Given the description of an element on the screen output the (x, y) to click on. 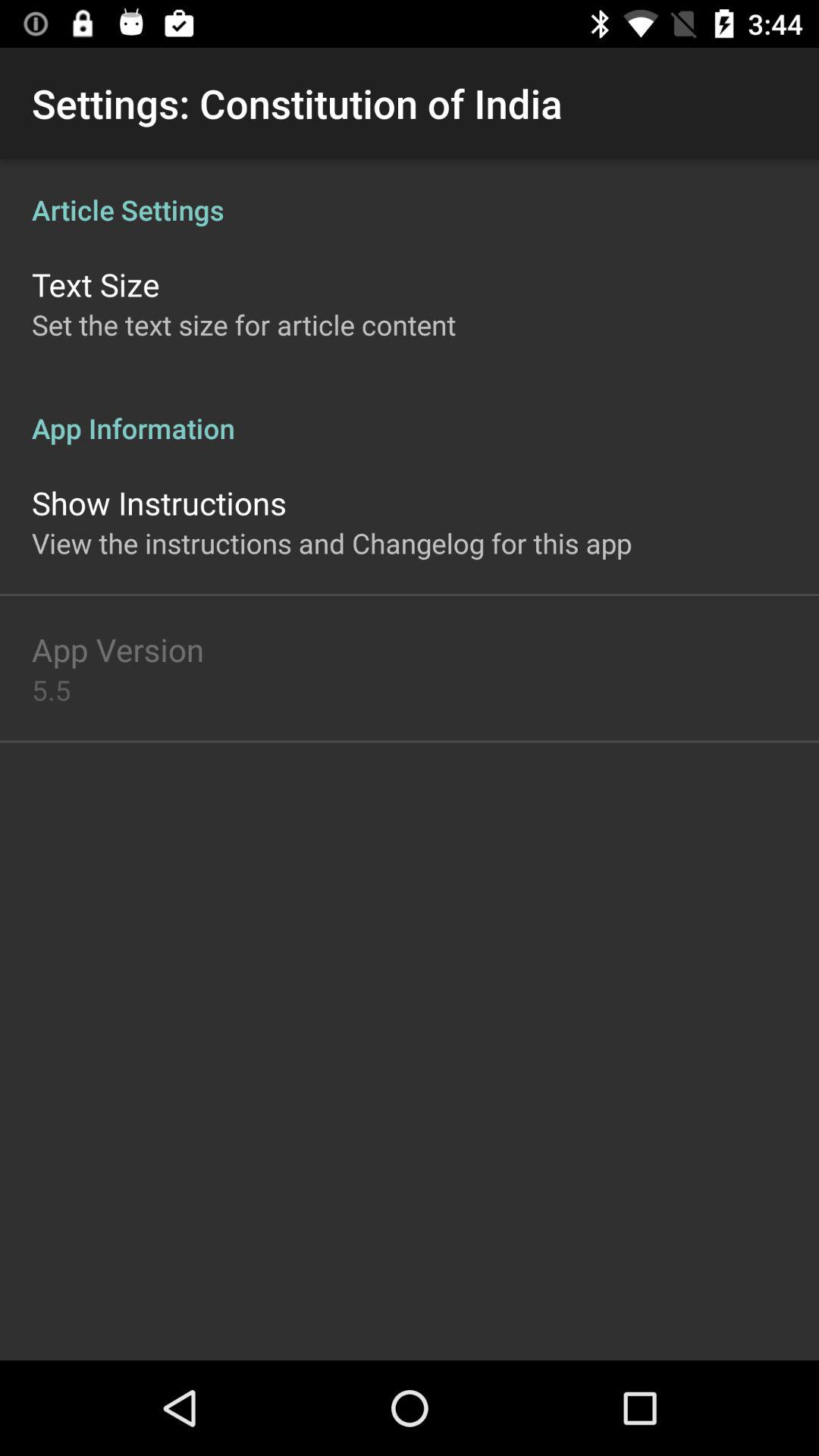
press app above show instructions app (409, 412)
